Given the description of an element on the screen output the (x, y) to click on. 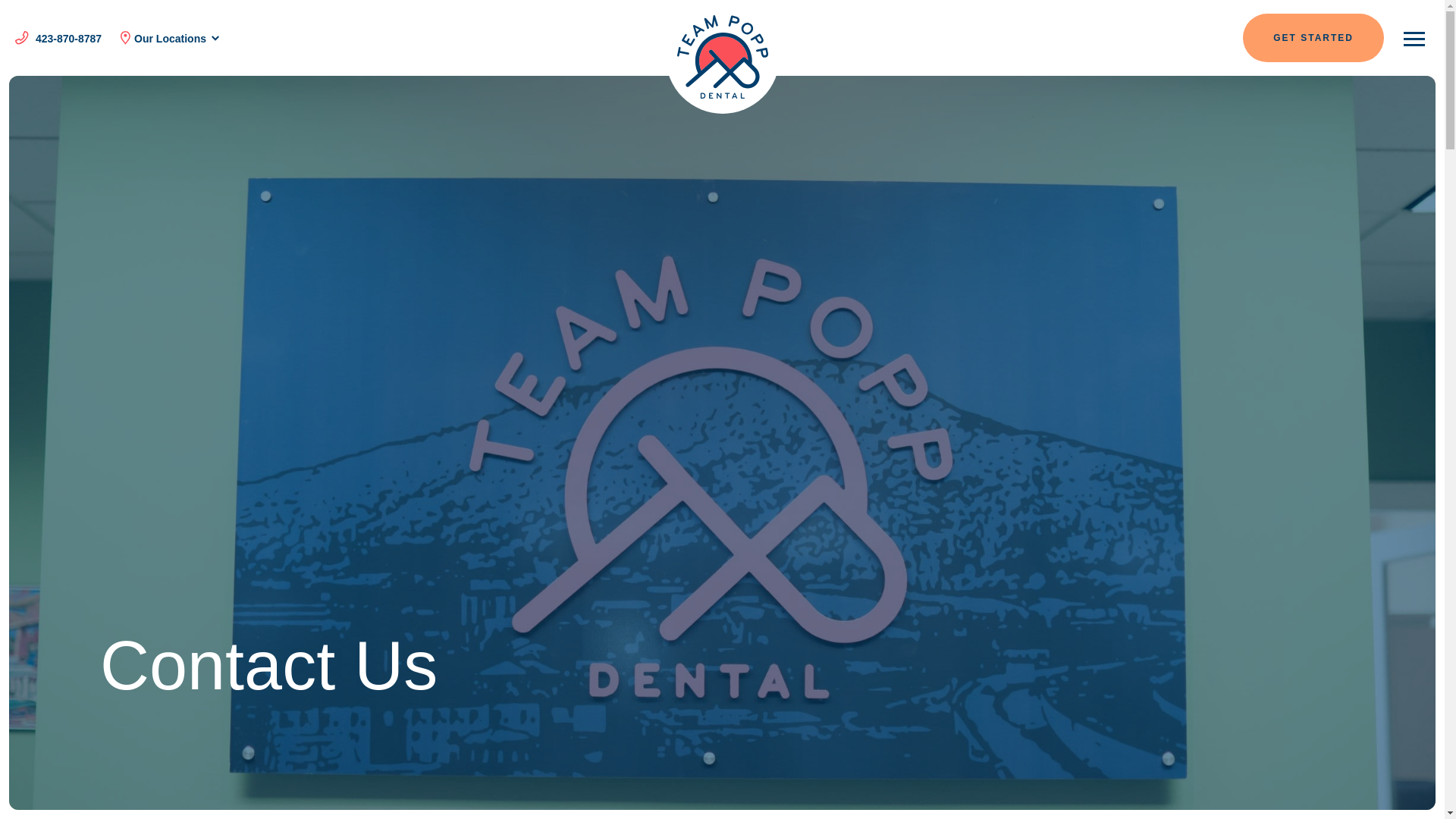
423-870-8787 (57, 38)
GET STARTED (1313, 37)
